Given the description of an element on the screen output the (x, y) to click on. 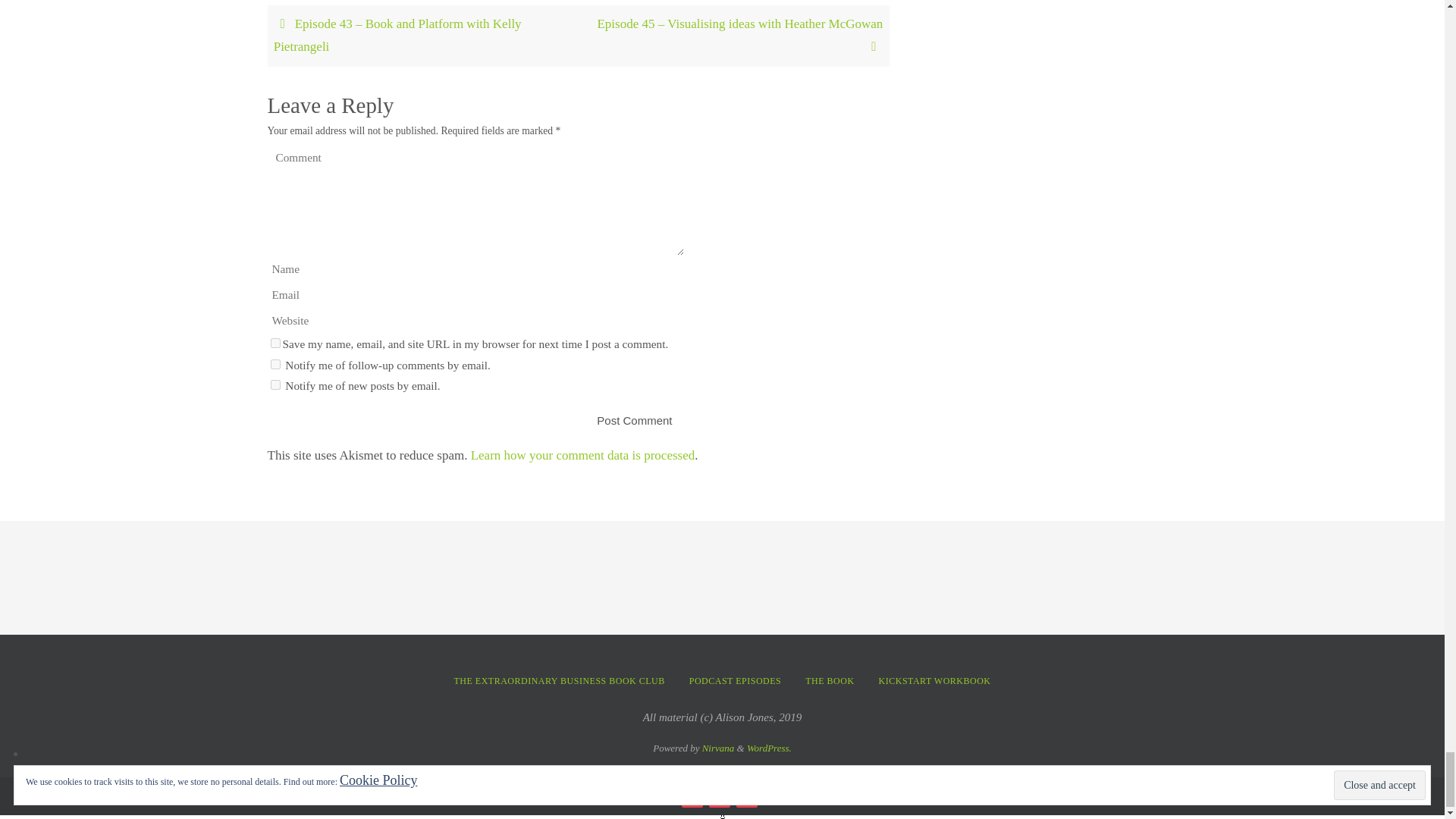
yes (274, 343)
subscribe (274, 384)
Post Comment (634, 419)
Learn how your comment data is processed (582, 454)
Post Comment (634, 419)
subscribe (274, 364)
